Given the description of an element on the screen output the (x, y) to click on. 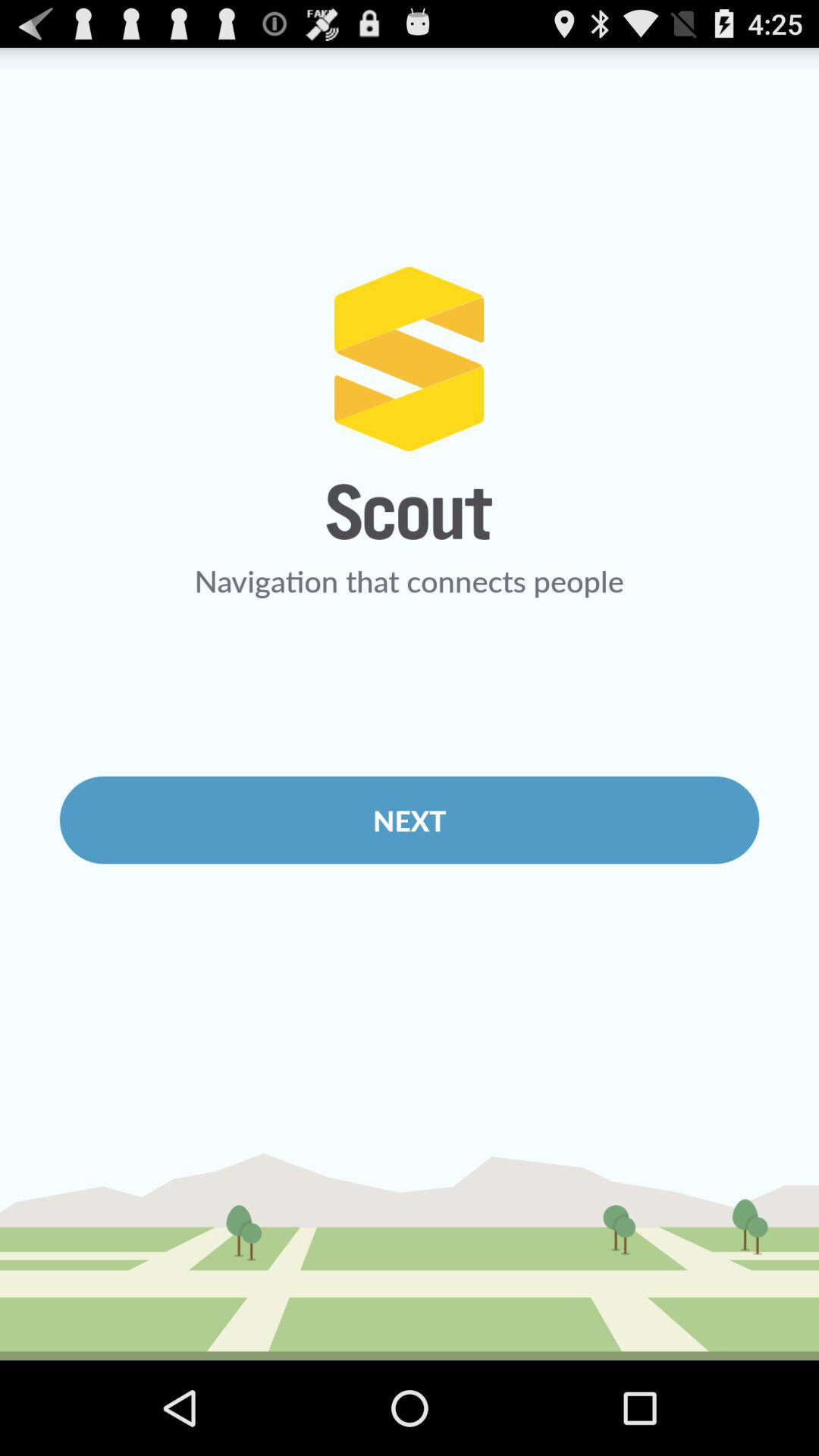
tap the icon below the navigation that connects (409, 819)
